Given the description of an element on the screen output the (x, y) to click on. 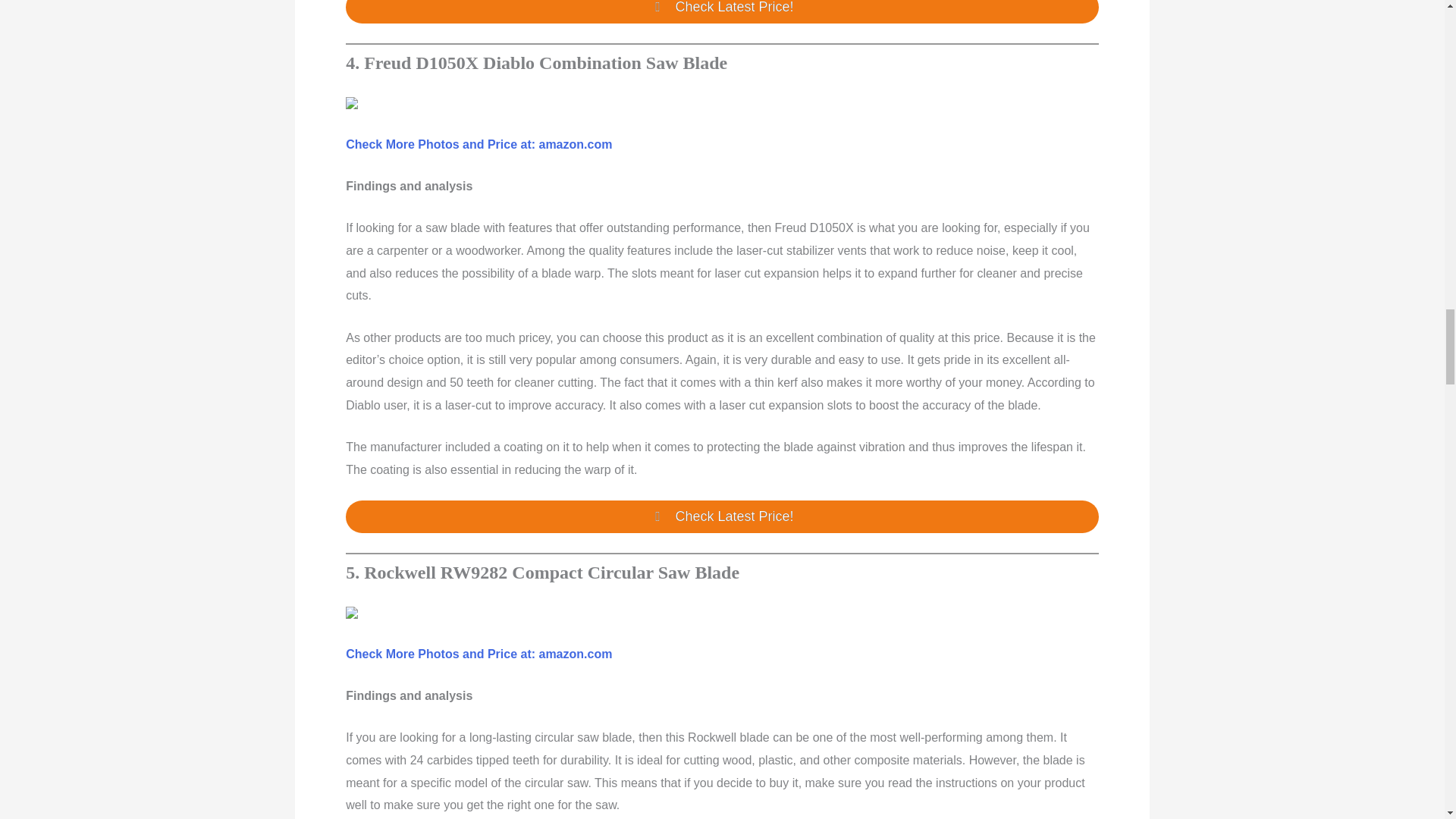
Check Latest Price! (722, 11)
Check Latest Price! (722, 516)
Check More Photos and Price at: amazon.com (478, 653)
Check More Photos and Price at: amazon.com (478, 144)
